Given the description of an element on the screen output the (x, y) to click on. 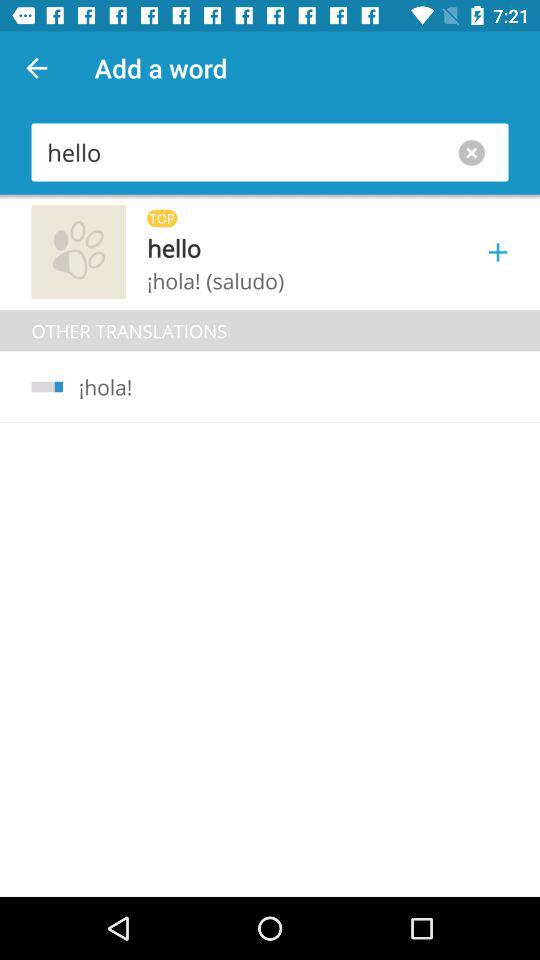
clear (476, 152)
